Given the description of an element on the screen output the (x, y) to click on. 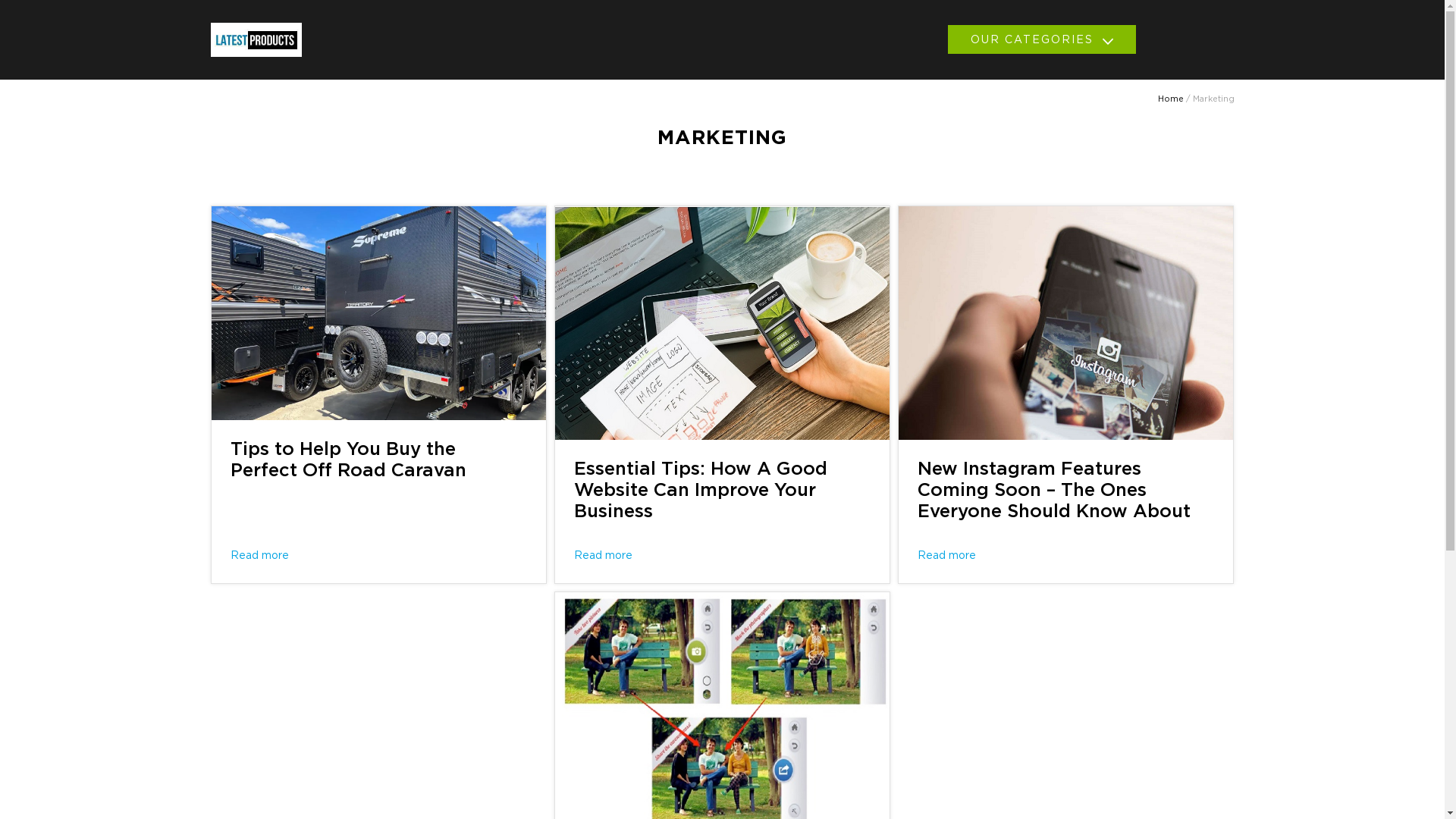
OUR CATEGORIES Element type: text (1041, 39)
Read more Element type: text (603, 555)
Read more Element type: text (946, 555)
Essential Tips: How A Good Website Can Improve Your Business Element type: text (700, 490)
Home Element type: text (1170, 98)
Read more Element type: text (259, 555)
Tips to Help You Buy the Perfect Off Road Caravan Element type: text (348, 460)
